Given the description of an element on the screen output the (x, y) to click on. 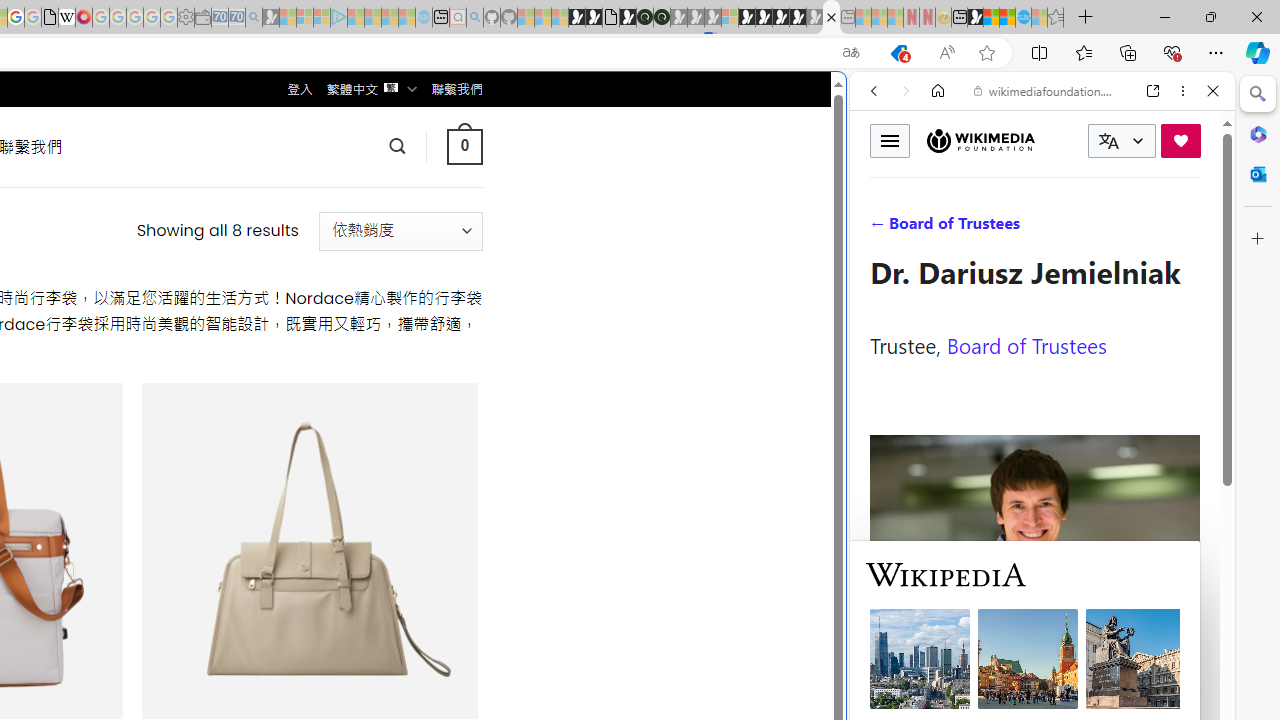
Toggle menu (890, 140)
Donate now (1180, 140)
Frequently visited (418, 265)
